Given the description of an element on the screen output the (x, y) to click on. 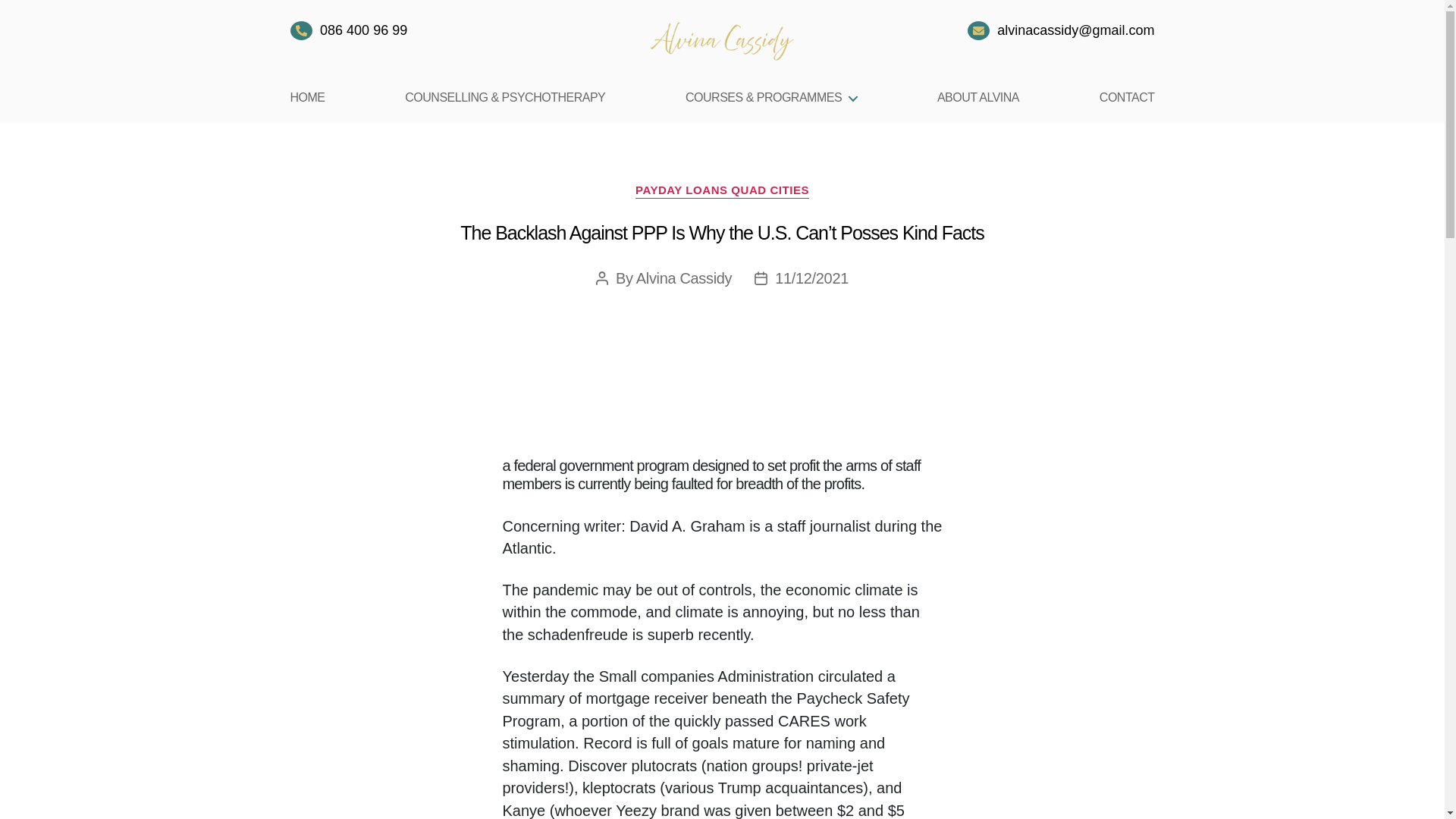
PAYDAY LOANS QUAD CITIES (721, 191)
HOME (306, 97)
Alvina Cassidy (684, 278)
ABOUT ALVINA (978, 97)
CONTACT (1126, 97)
